Given the description of an element on the screen output the (x, y) to click on. 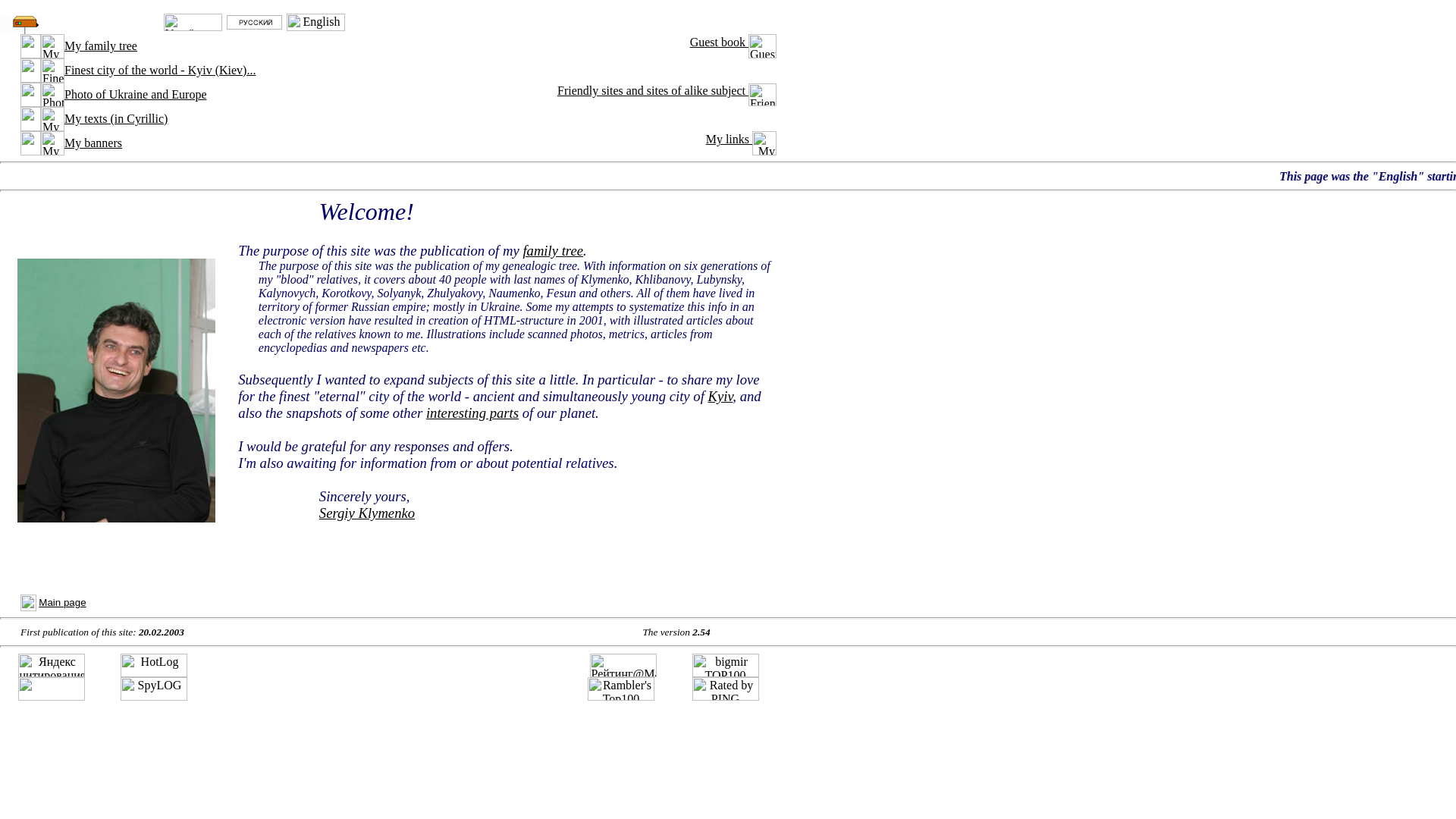
Main page (62, 602)
Sergiy Klymenko (366, 512)
family tree (552, 250)
My links (764, 143)
My banners (93, 142)
Photo of Ukraine and Europe (52, 94)
My family tree (100, 45)
interesting parts (472, 412)
My links (741, 138)
My family tree (52, 46)
